Given the description of an element on the screen output the (x, y) to click on. 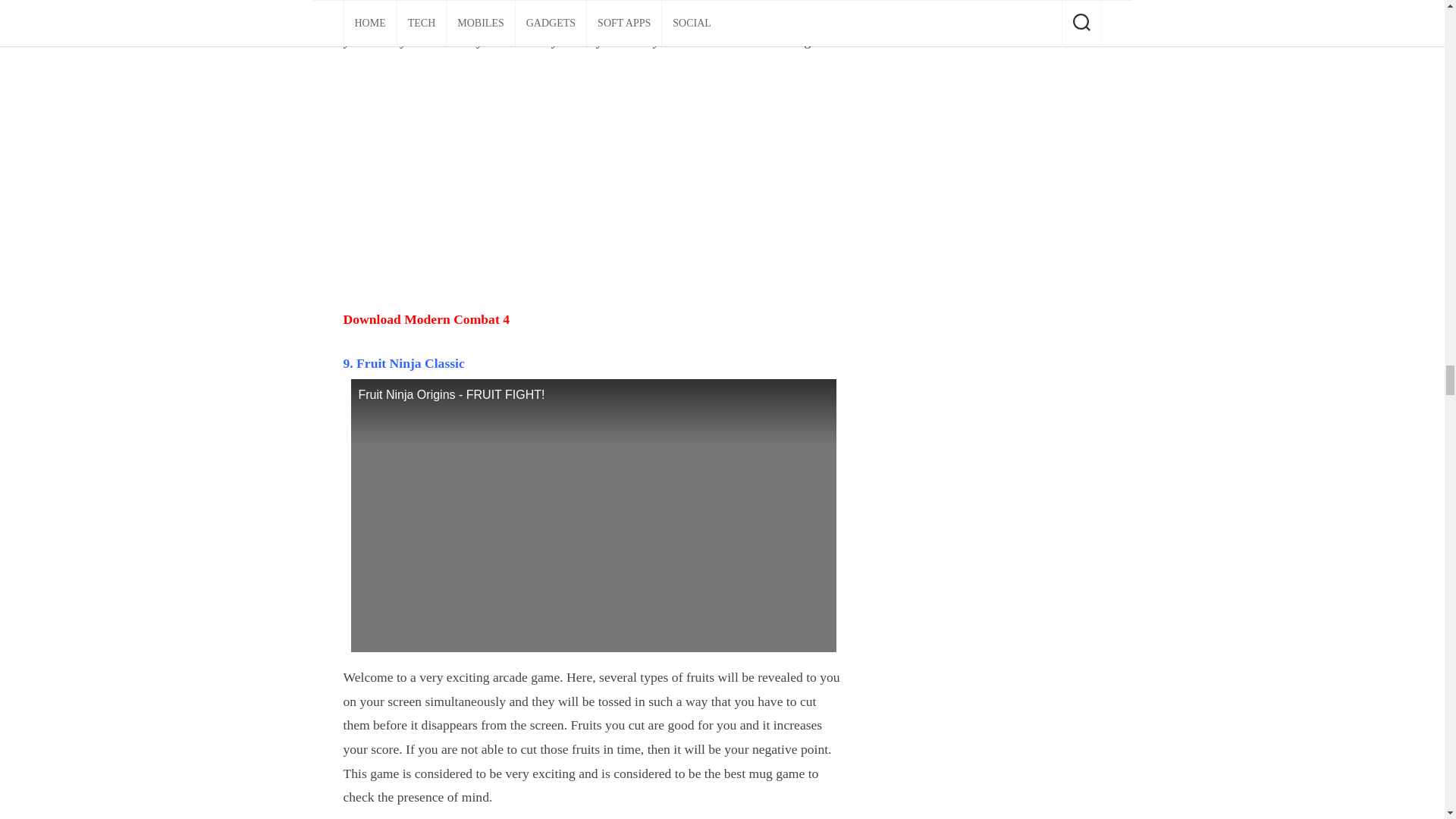
Download Modern Combat 4 (425, 319)
Fruit Ninja Origins - FRUIT FIGHT! (592, 515)
